Given the description of an element on the screen output the (x, y) to click on. 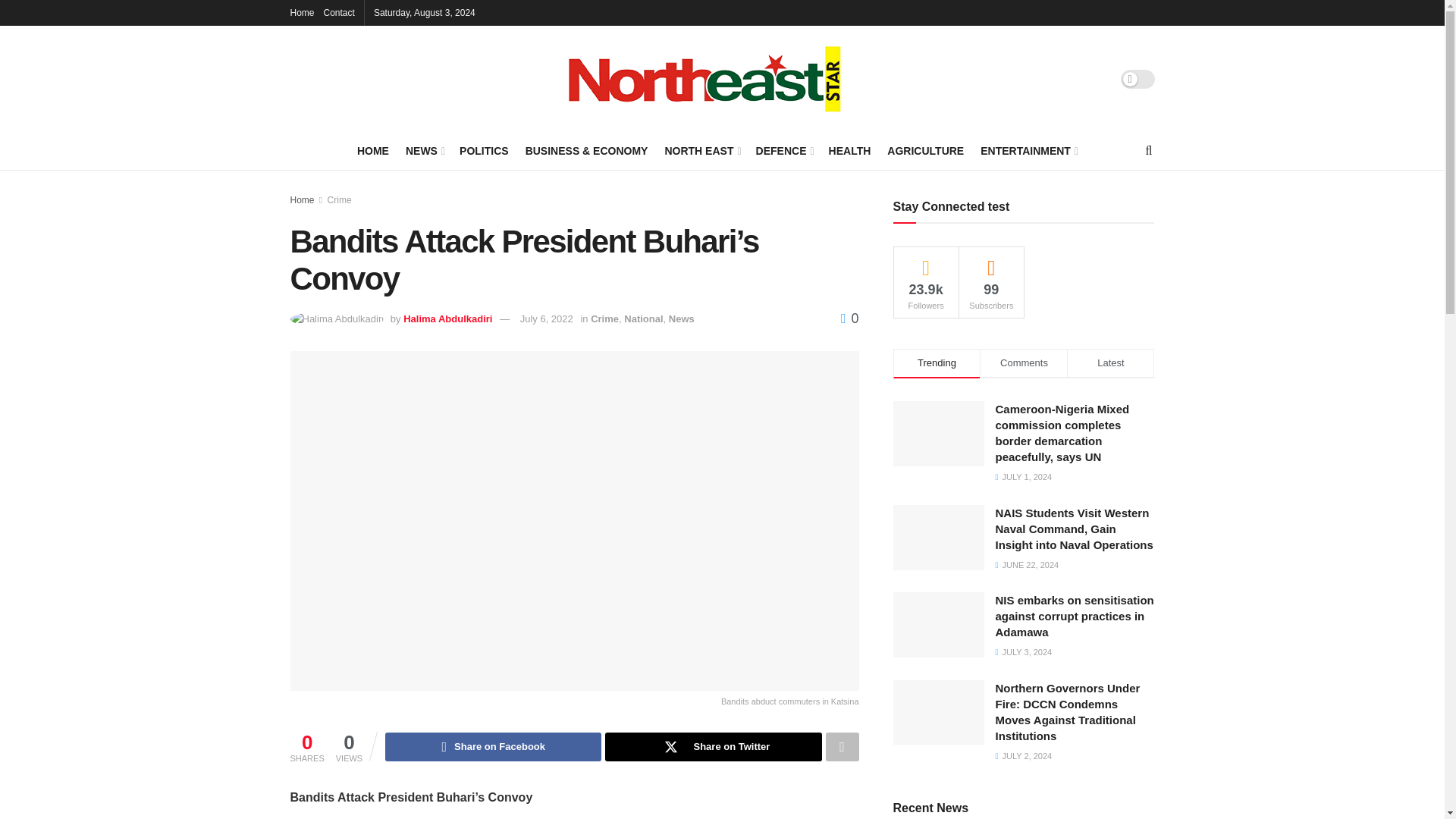
NEWS (424, 150)
HOME (372, 150)
Contact (339, 12)
Home (301, 12)
POLITICS (484, 150)
NORTH EAST (700, 150)
